Given the description of an element on the screen output the (x, y) to click on. 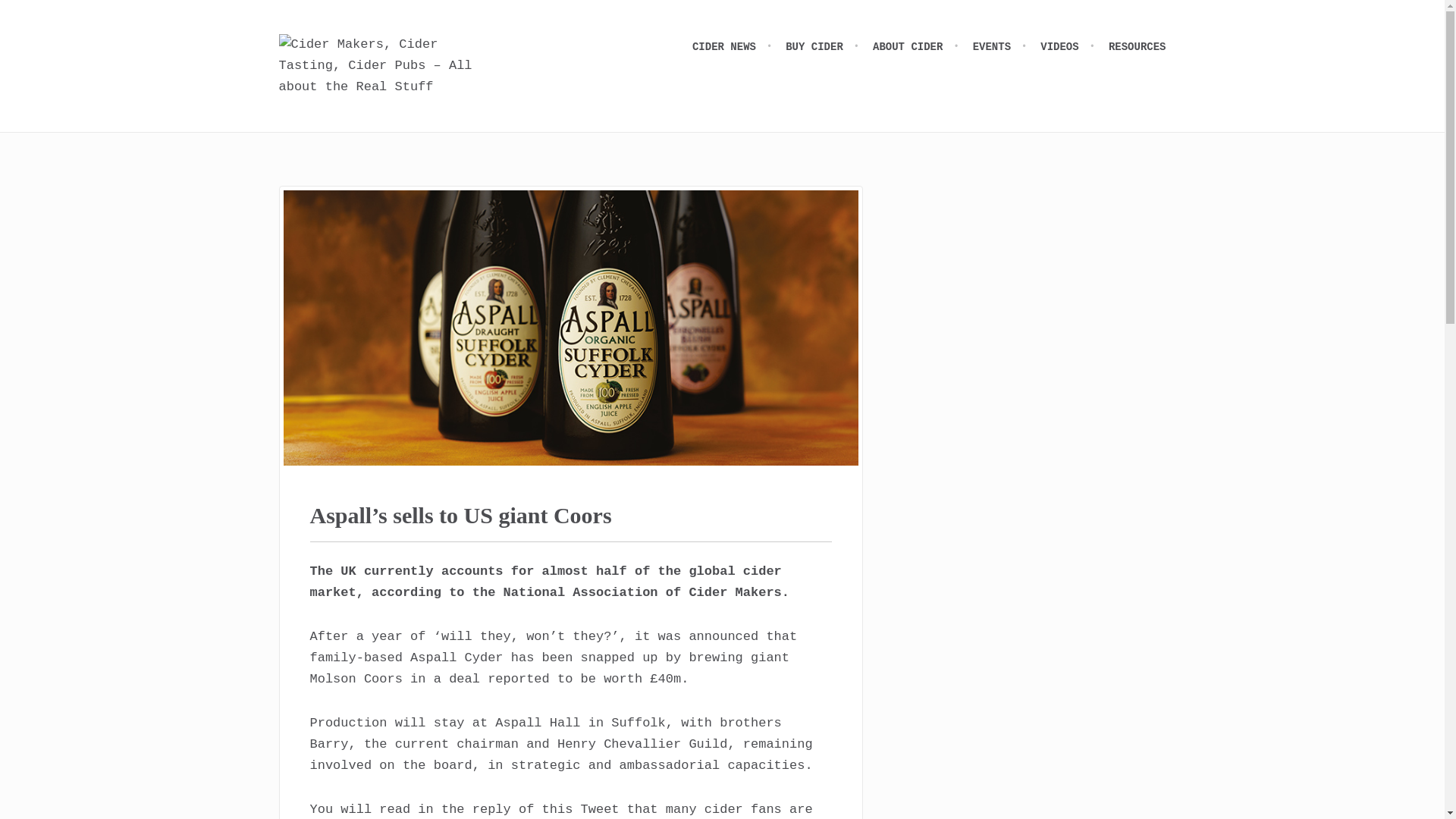
CIDER NEWS (735, 46)
ABOUT CIDER (918, 46)
EVENTS (1002, 46)
BUY CIDER (825, 46)
Real Cider (381, 65)
RESOURCES (1137, 46)
VIDEOS (1070, 46)
